Given the description of an element on the screen output the (x, y) to click on. 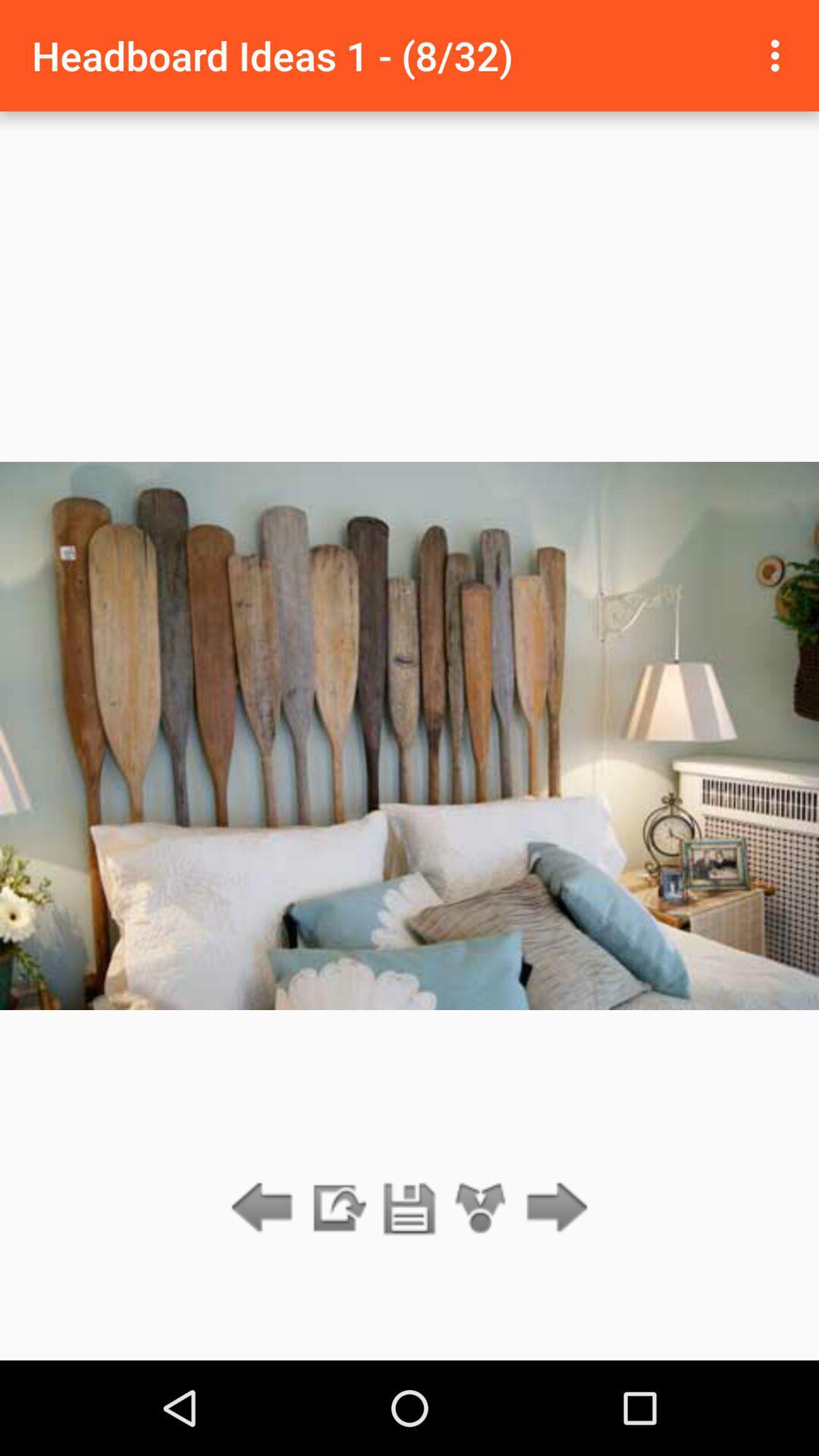
open the icon at the bottom right corner (552, 1209)
